Given the description of an element on the screen output the (x, y) to click on. 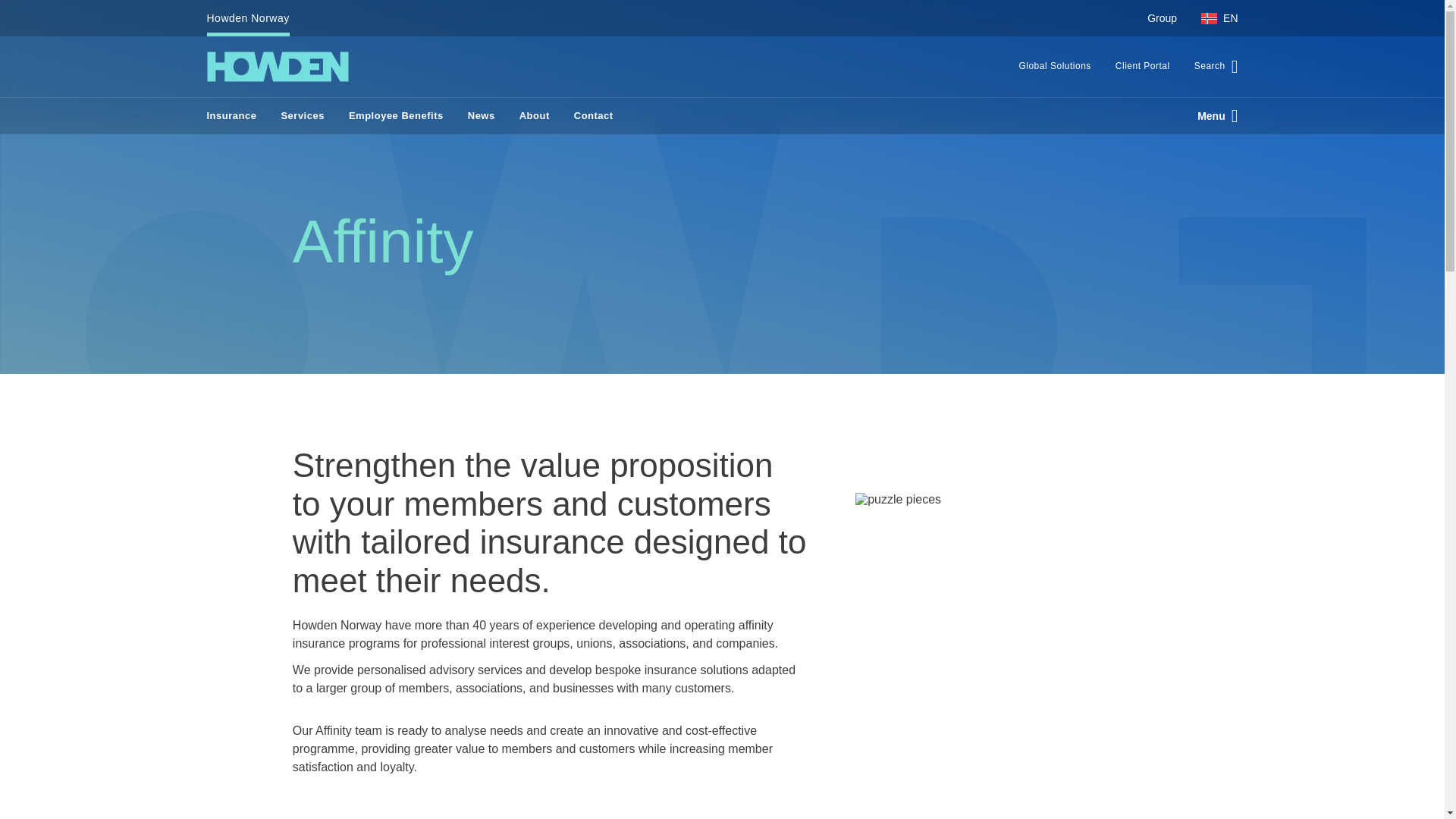
EN (1213, 18)
Global Solutions (1054, 66)
Group (1162, 18)
Search (1210, 66)
Howden Broking Group (276, 66)
Client Portal (1142, 66)
Menu (1211, 115)
